Given the description of an element on the screen output the (x, y) to click on. 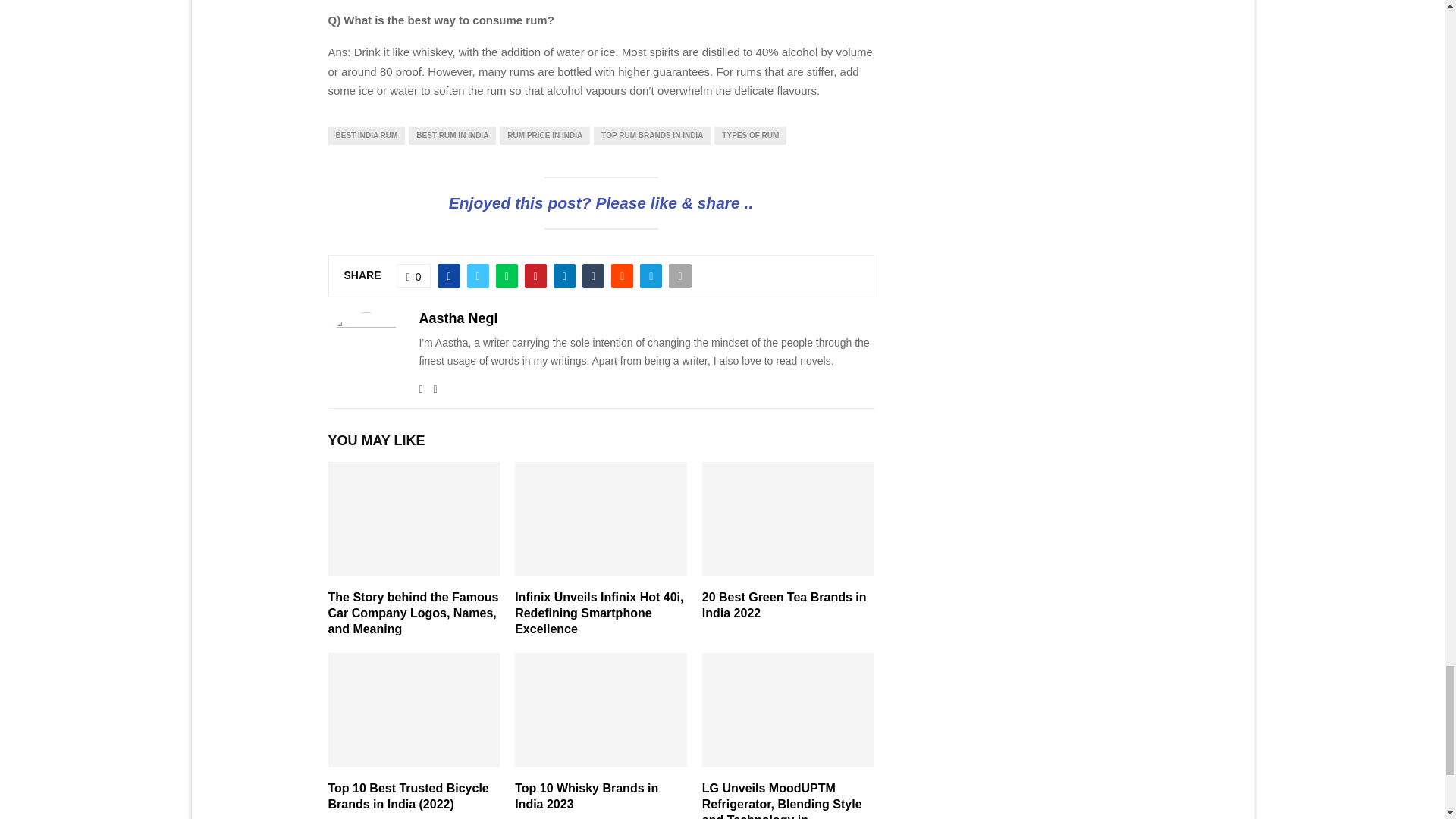
RUM PRICE IN INDIA (544, 135)
TOP RUM BRANDS IN INDIA (652, 135)
BEST RUM IN INDIA (452, 135)
TYPES OF RUM (750, 135)
Posts by Aastha Negi (458, 318)
0 (413, 275)
BEST INDIA RUM (365, 135)
Like (413, 275)
